Given the description of an element on the screen output the (x, y) to click on. 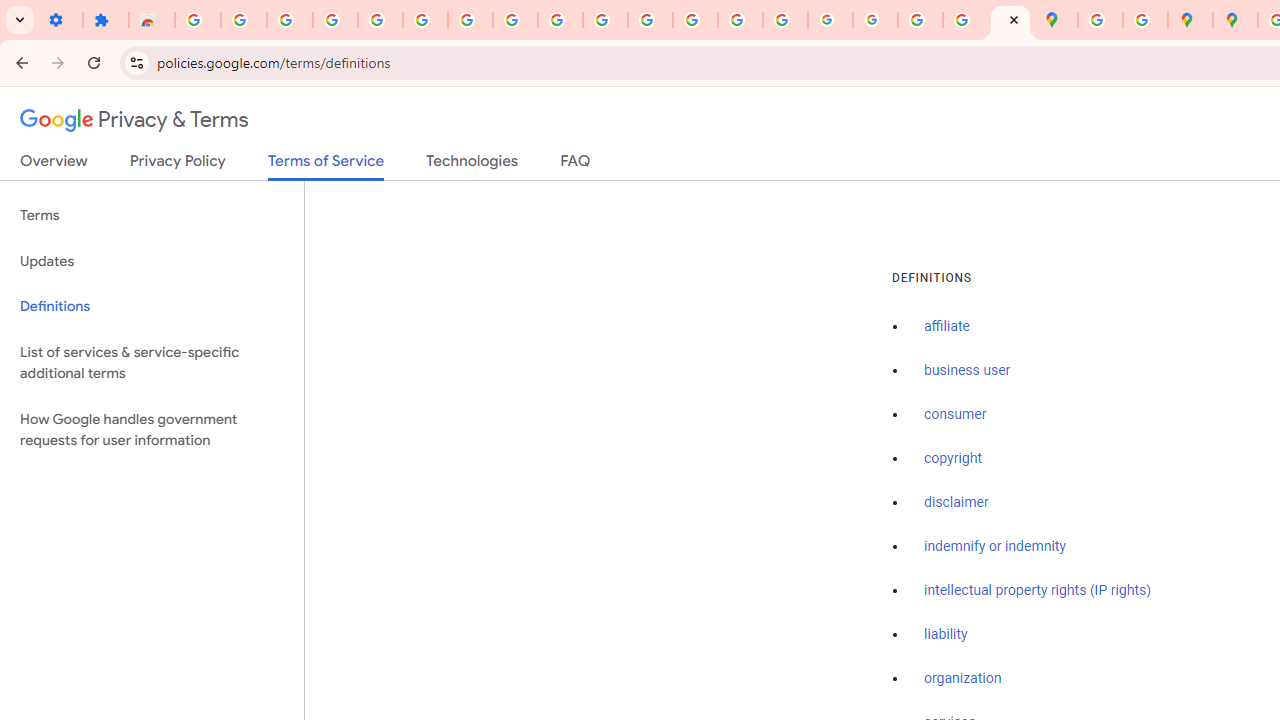
Privacy Policy (177, 165)
Settings - On startup (60, 20)
liability (945, 634)
Terms (152, 215)
Overview (54, 165)
affiliate (947, 327)
YouTube (559, 20)
indemnify or indemnity (995, 546)
disclaimer (956, 502)
Back (19, 62)
